Given the description of an element on the screen output the (x, y) to click on. 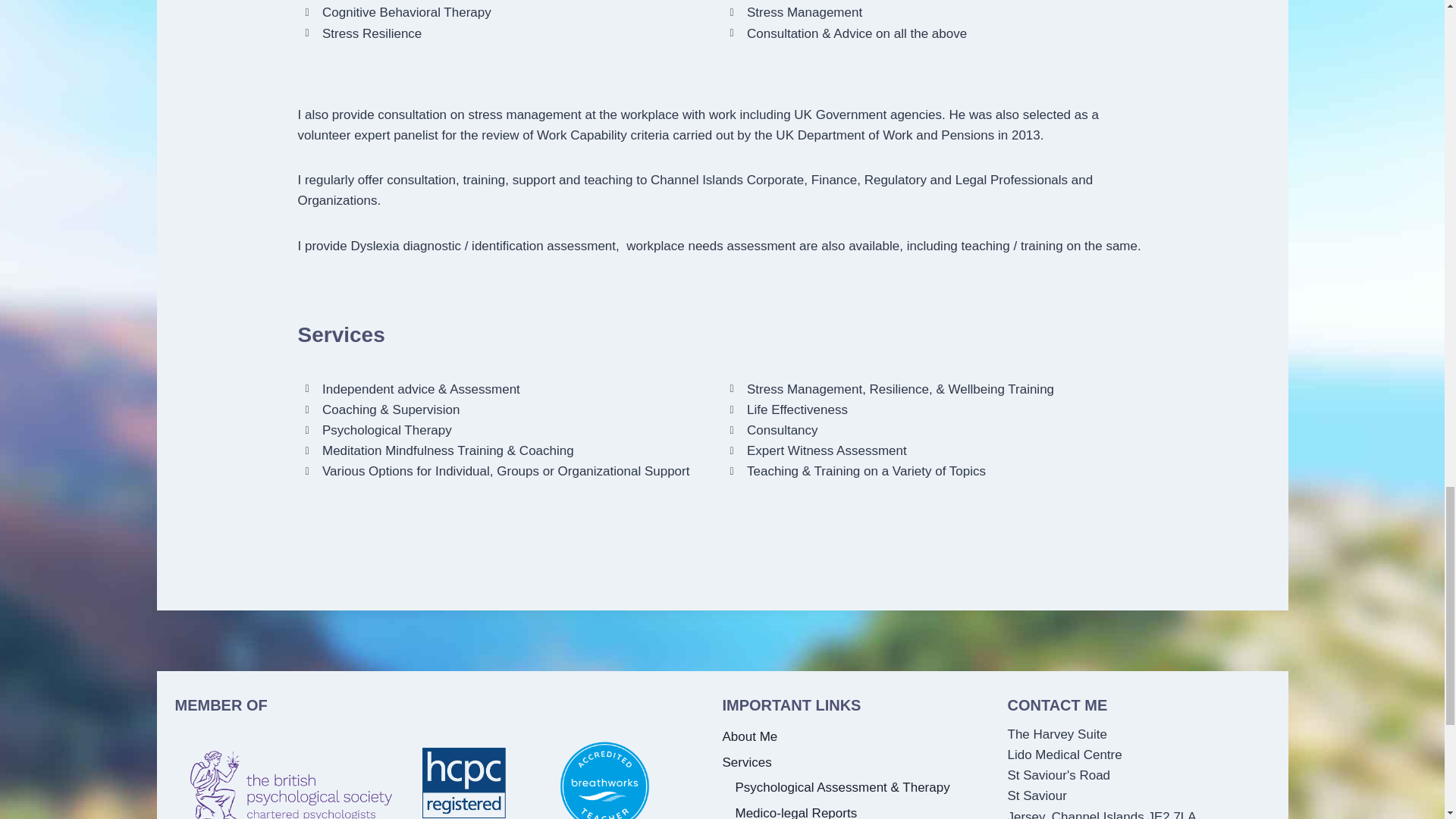
About Me (853, 736)
Medico-legal Reports (860, 810)
Services (853, 762)
